Given the description of an element on the screen output the (x, y) to click on. 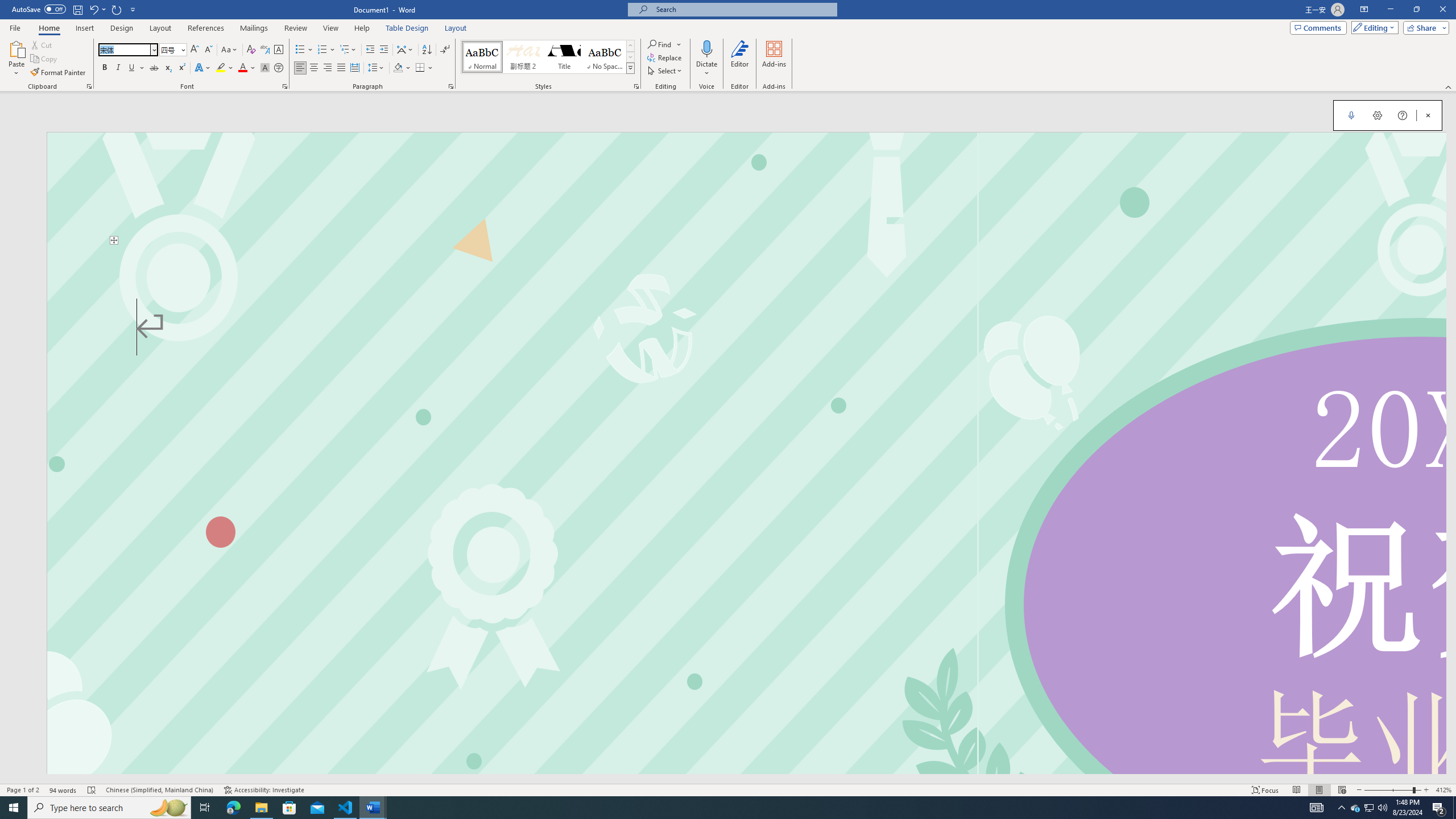
Word Count 94 words (63, 790)
Close Dictation (1428, 115)
